Given the description of an element on the screen output the (x, y) to click on. 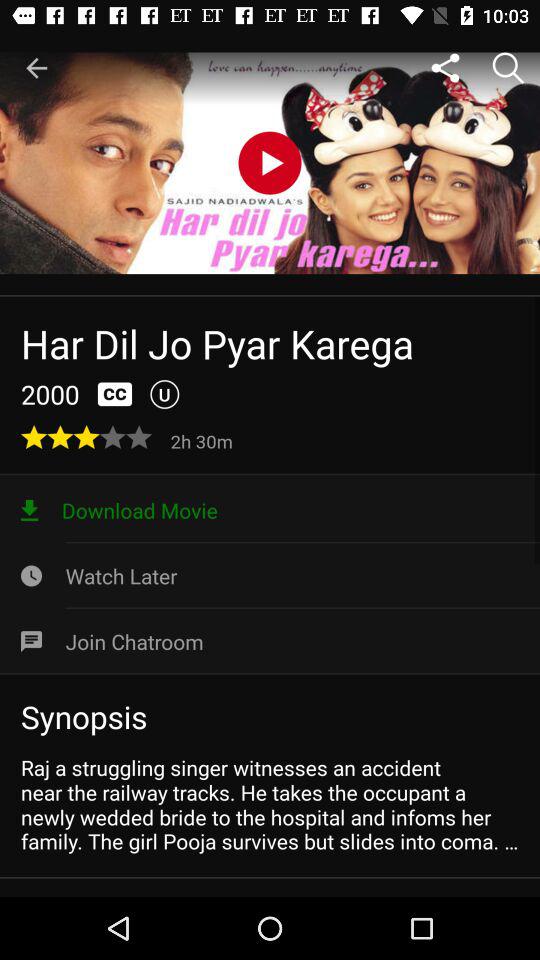
swipe to 2h 30m  icon (203, 440)
